Given the description of an element on the screen output the (x, y) to click on. 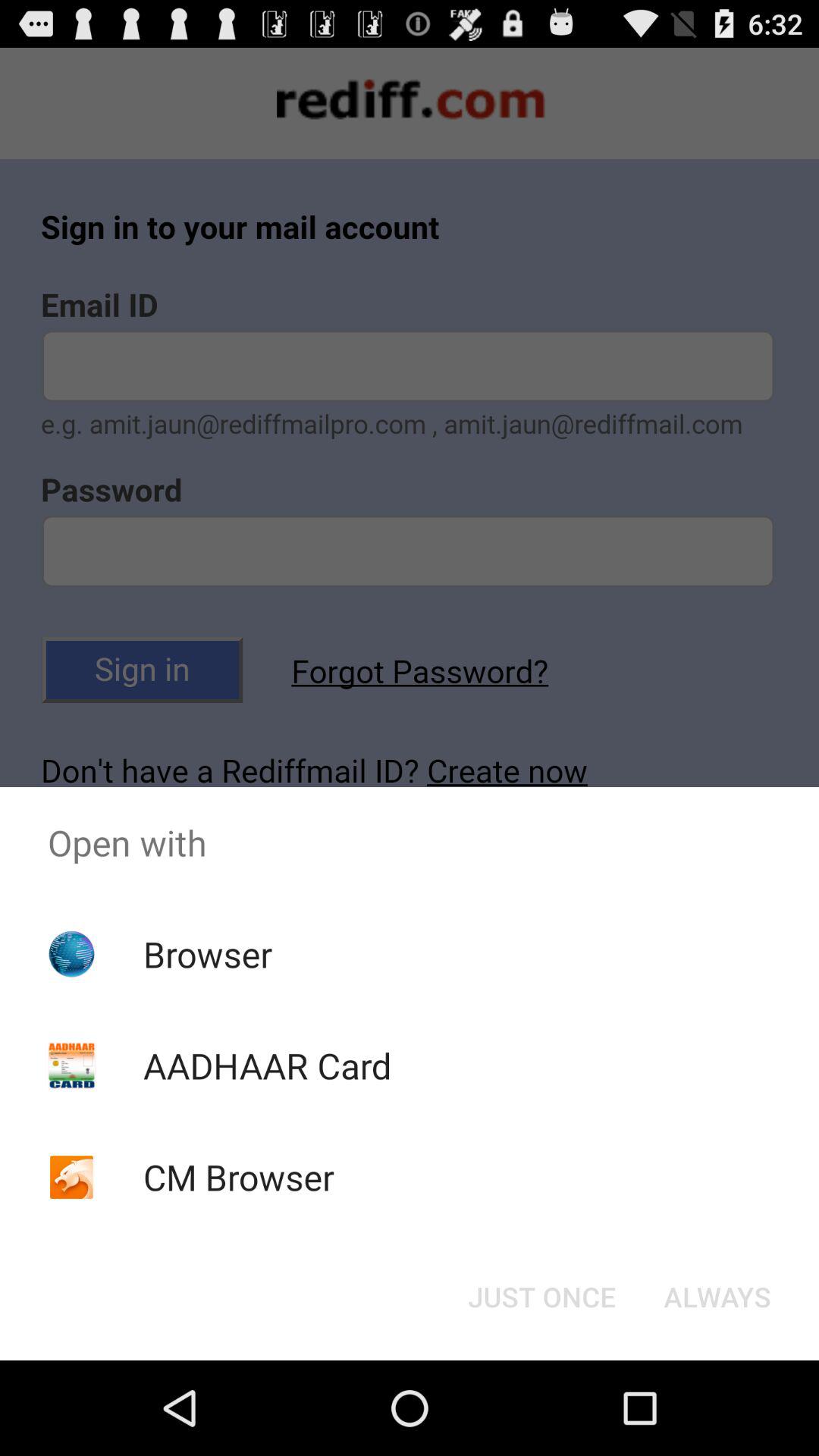
flip to aadhaar card icon (267, 1065)
